Given the description of an element on the screen output the (x, y) to click on. 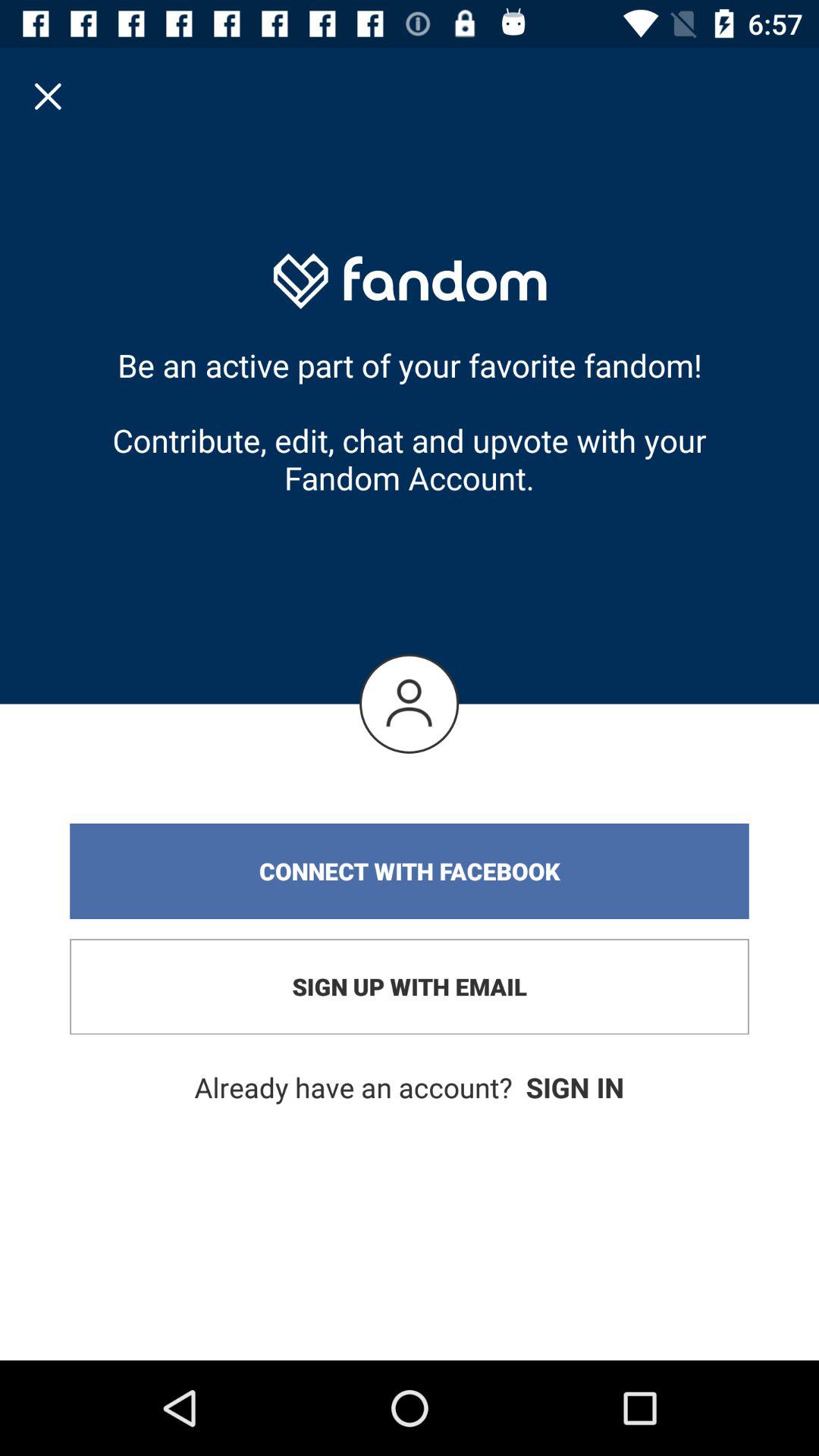
jump until the connect with facebook (409, 871)
